Given the description of an element on the screen output the (x, y) to click on. 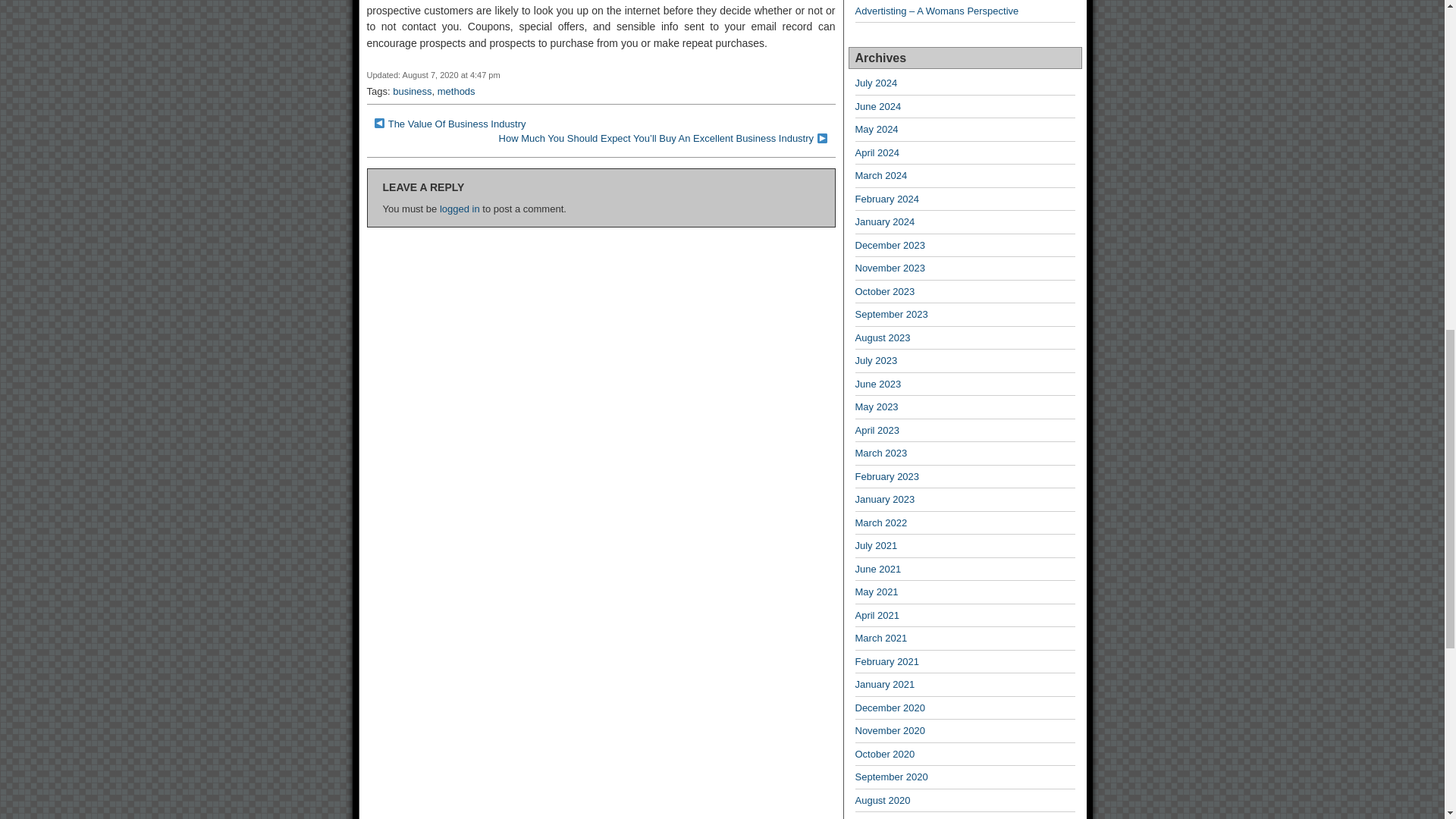
April 2024 (877, 152)
October 2023 (885, 291)
February 2024 (888, 198)
The Value Of Business Industry (456, 123)
business (411, 91)
March 2024 (881, 174)
logged in (459, 208)
November 2023 (891, 267)
May 2024 (877, 129)
methods (457, 91)
January 2024 (885, 221)
December 2023 (891, 244)
July 2024 (877, 82)
June 2024 (878, 106)
